Given the description of an element on the screen output the (x, y) to click on. 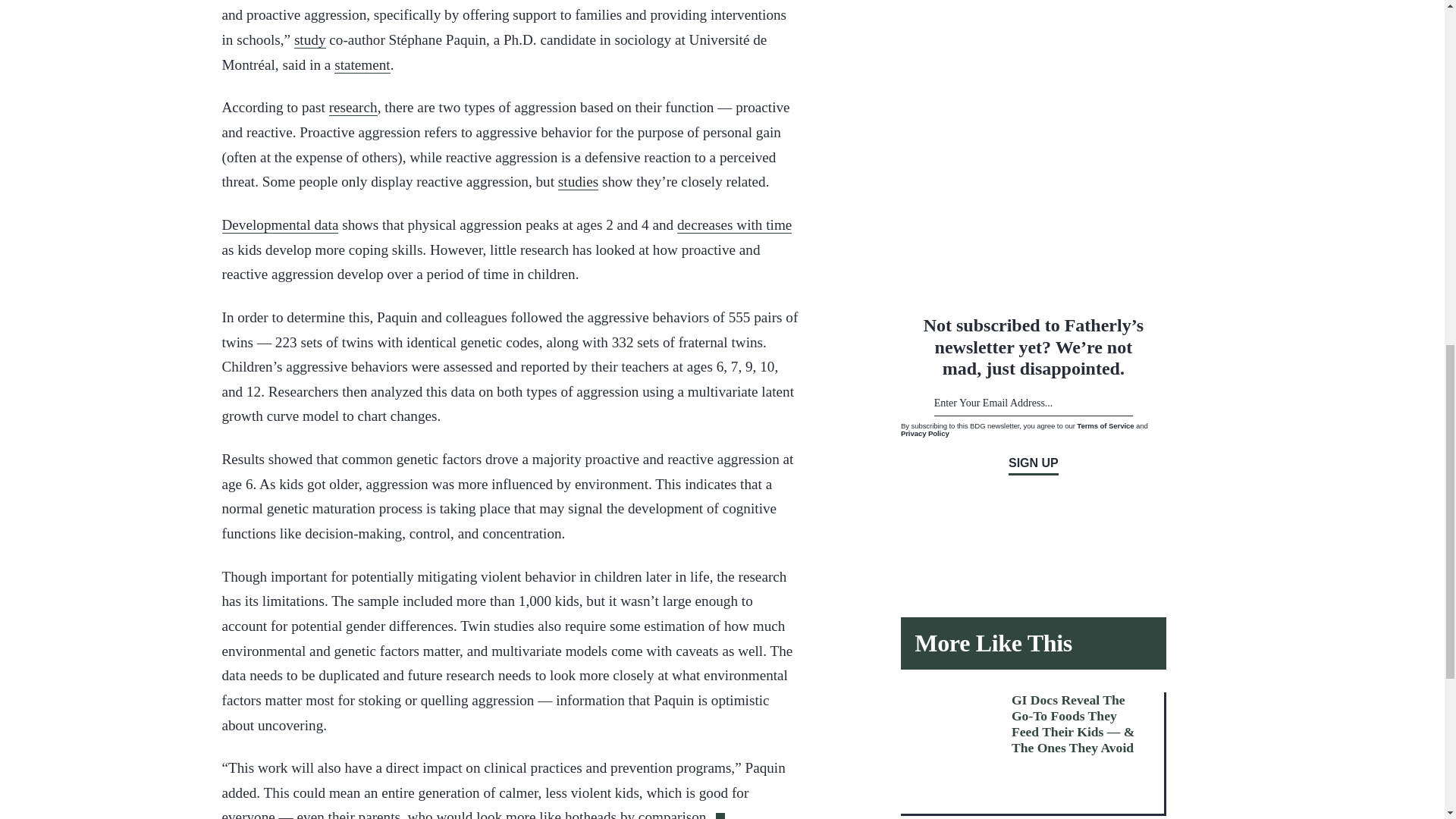
SIGN UP (1033, 465)
Privacy Policy (925, 433)
statement (362, 64)
decreases with time (734, 225)
studies (577, 181)
study (310, 39)
research (353, 107)
Developmental data (279, 225)
Terms of Service (1105, 425)
